Given the description of an element on the screen output the (x, y) to click on. 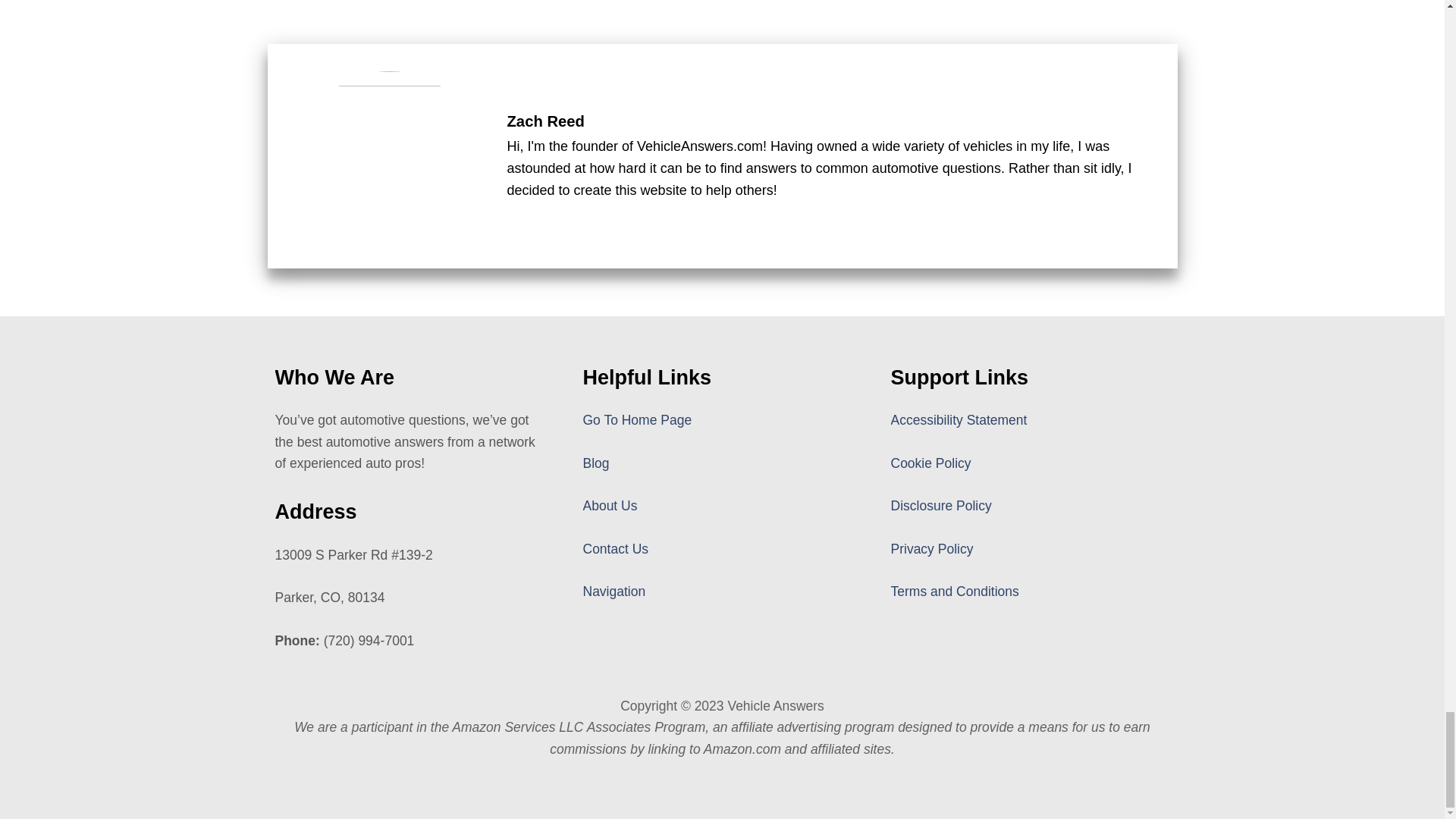
About Us (609, 505)
Cookie Policy (930, 462)
Disclosure Policy (940, 505)
Navigation (613, 590)
Accessibility Statement (957, 419)
Blog (595, 462)
Terms and Conditions (953, 590)
Contact Us (614, 548)
Privacy Policy (930, 548)
Go To Home Page (636, 419)
